Given the description of an element on the screen output the (x, y) to click on. 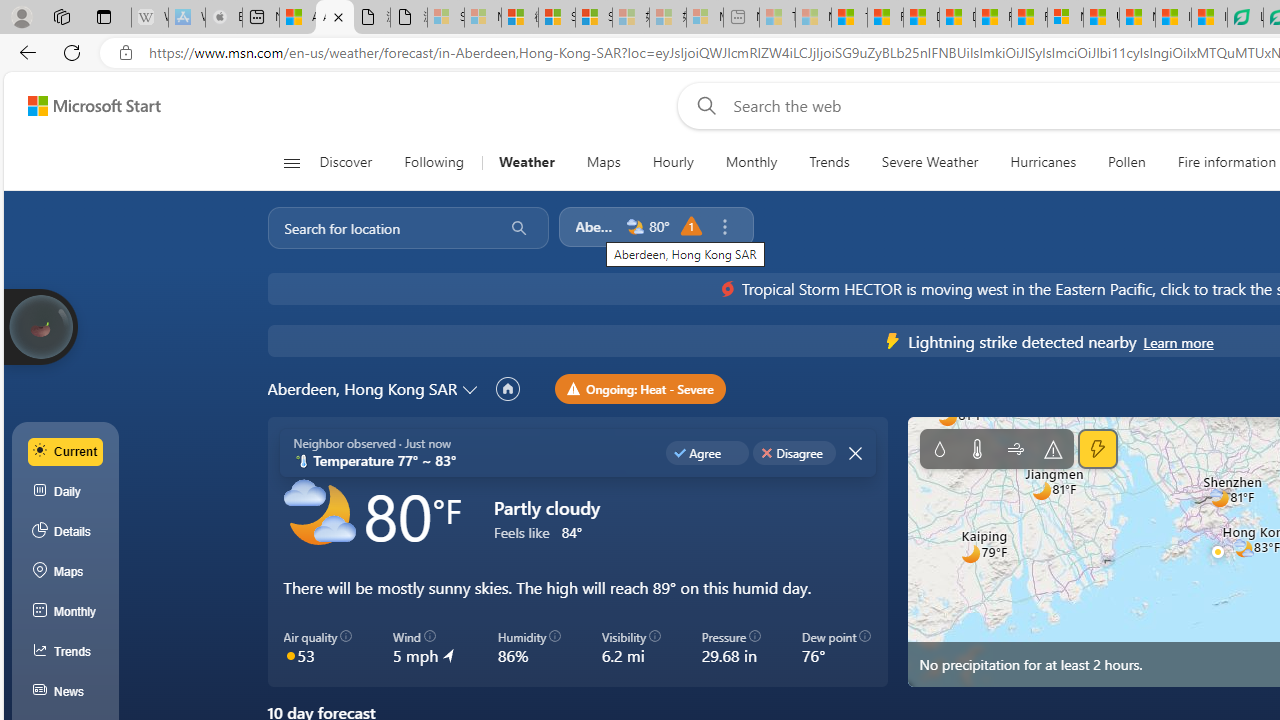
Lightning (1097, 449)
Maps (603, 162)
Drinking tea every day is proven to delay biological aging (957, 17)
Maps (603, 162)
Hourly (673, 162)
Aberdeen, Hong Kong SAR weather forecast | Microsoft Weather (335, 17)
Current (65, 451)
Partly cloudy (318, 514)
Web search (702, 105)
Severe Weather (929, 162)
New tab - Sleeping (741, 17)
